Given the description of an element on the screen output the (x, y) to click on. 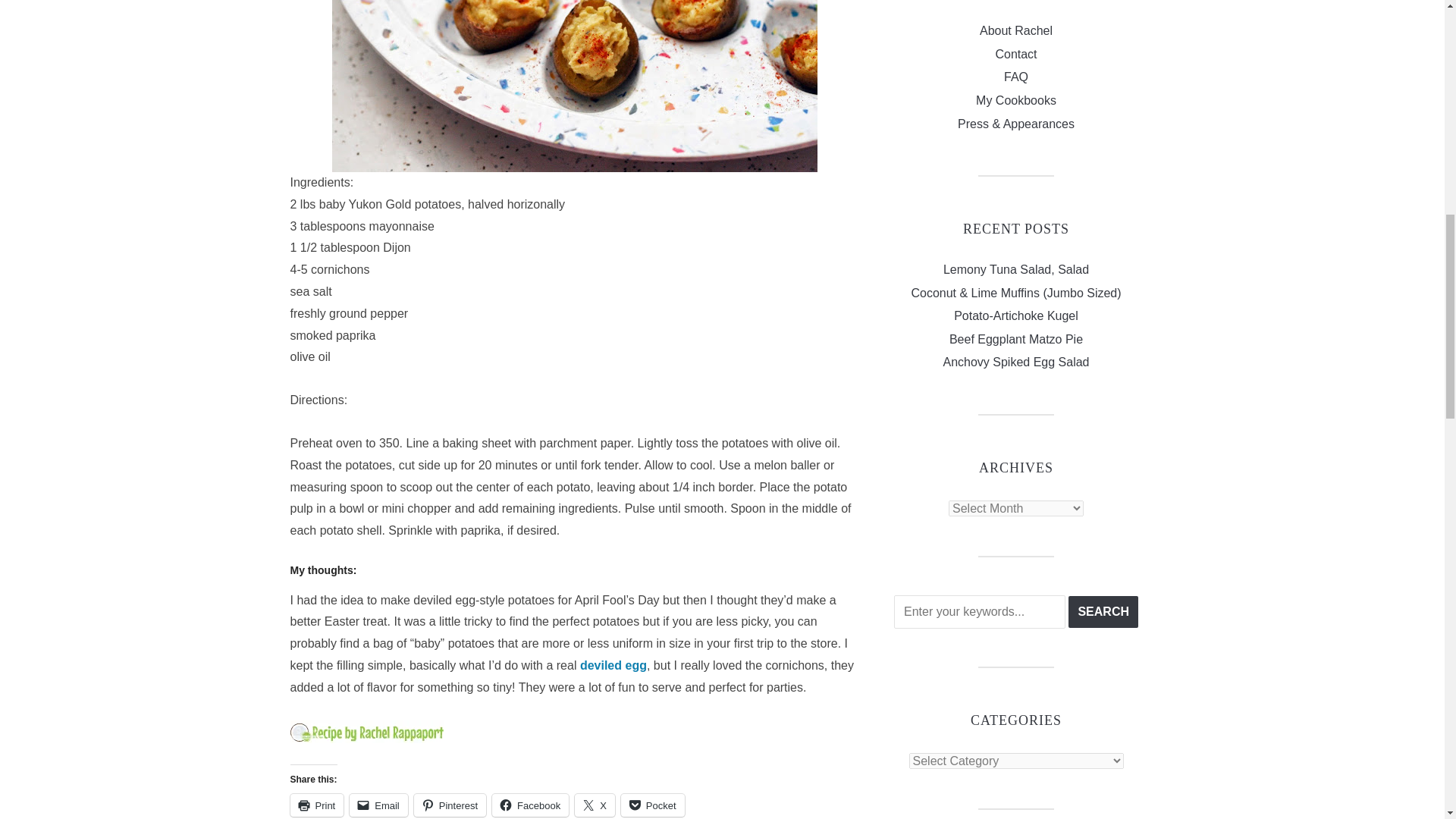
Click to print (316, 804)
Search (1103, 612)
Pocket (652, 804)
Click to share on Facebook (530, 804)
deviled egg (612, 665)
Click to share on Pocket (652, 804)
Email (378, 804)
Facebook (530, 804)
Click to share on X (594, 804)
Click to email a link to a friend (378, 804)
Pinterest (449, 804)
Print (316, 804)
Click to share on Pinterest (449, 804)
Search (1103, 612)
X (594, 804)
